Given the description of an element on the screen output the (x, y) to click on. 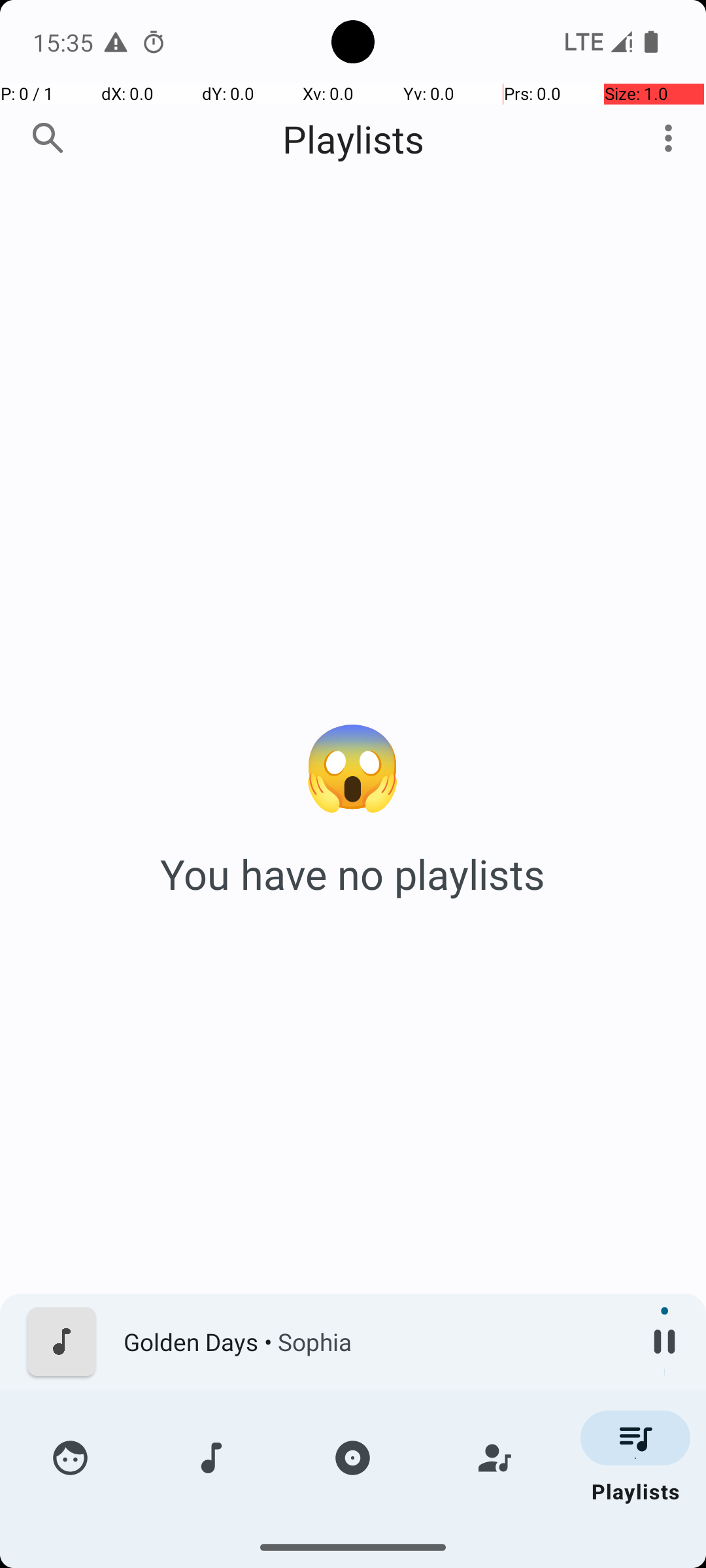
😱 Element type: android.widget.TextView (352, 763)
You have no playlists Element type: android.widget.TextView (352, 873)
Golden Days • Sophia Element type: android.widget.TextView (372, 1341)
